Given the description of an element on the screen output the (x, y) to click on. 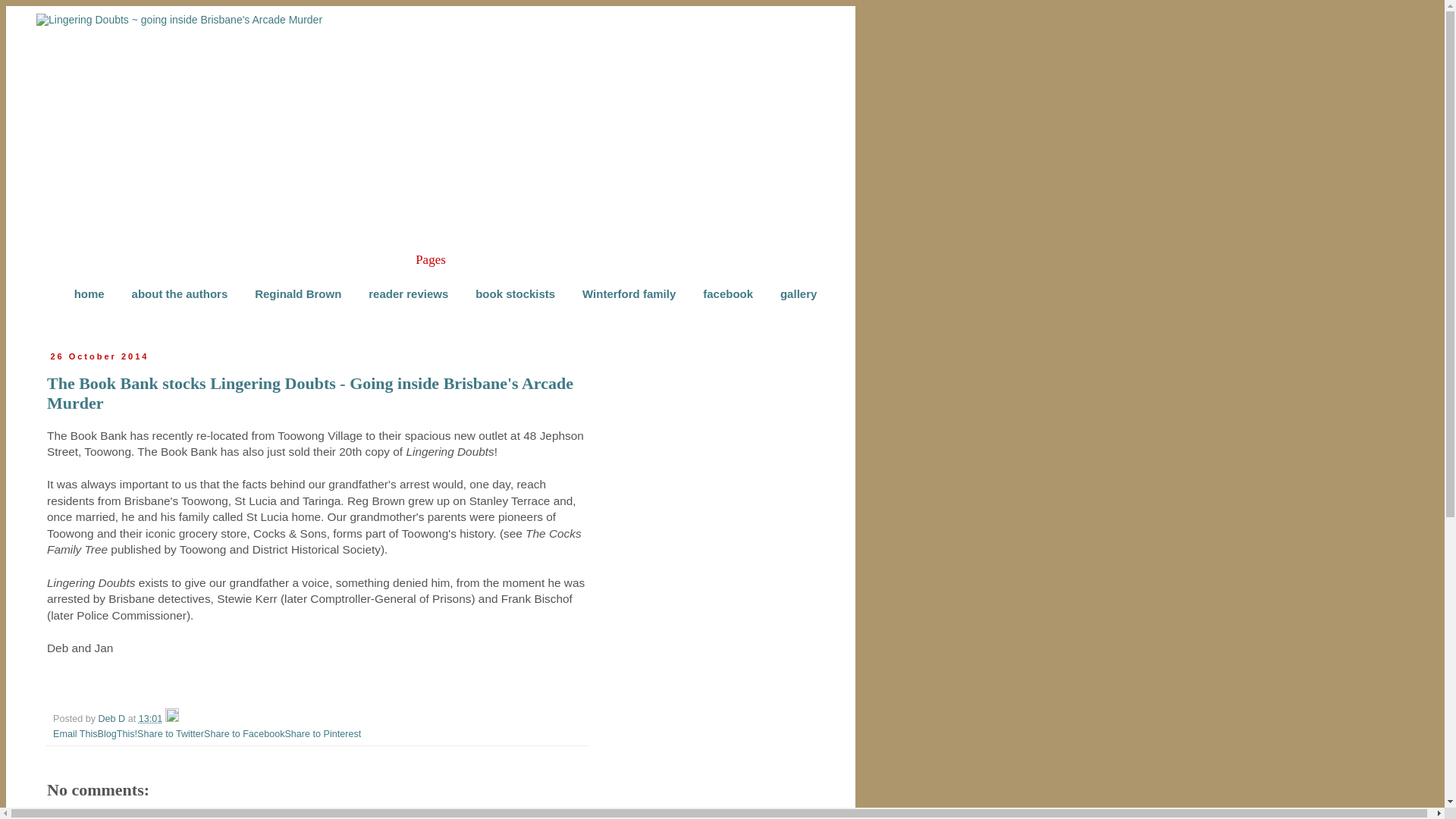
author profile (113, 718)
13:01 (150, 718)
reader reviews (408, 293)
Share to Twitter (169, 733)
Share to Pinterest (322, 733)
Edit Post (172, 718)
about the authors (179, 293)
Deb D (113, 718)
book stockists (515, 293)
BlogThis! (117, 733)
